Given the description of an element on the screen output the (x, y) to click on. 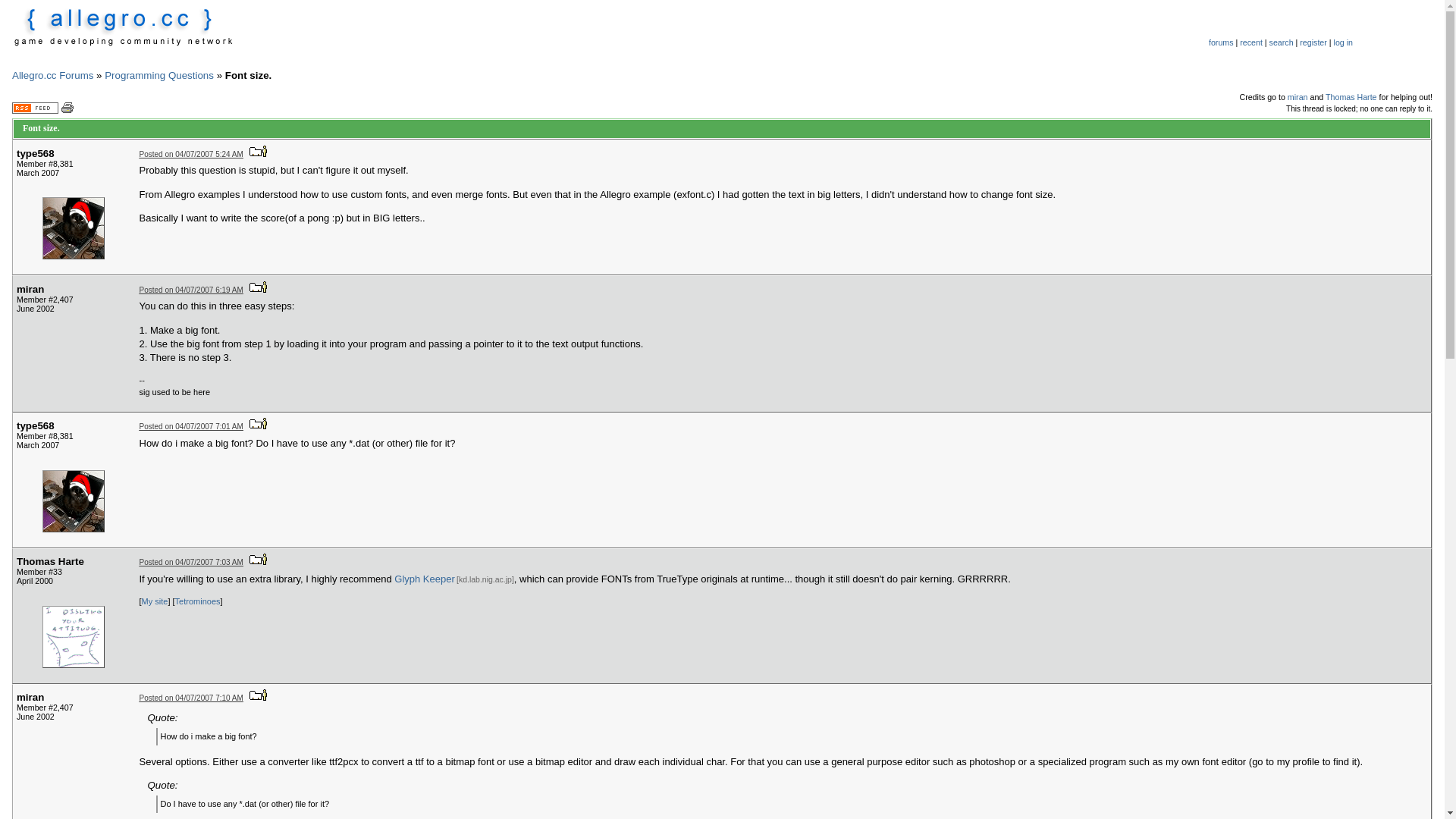
search Element type: text (1281, 42)
log in Element type: text (1342, 42)
Posted on 04/07/2007 5:24 AM Element type: text (191, 154)
recent Element type: text (1250, 42)
miran Element type: text (1297, 96)
forums Element type: text (1220, 42)
register Element type: text (1313, 42)
Posted on 04/07/2007 6:19 AM Element type: text (191, 289)
Tetrominoes Element type: text (197, 600)
Glyph Keeper Element type: text (424, 578)
Allegro.cc Forums Element type: text (52, 75)
Posted on 04/07/2007 7:01 AM Element type: text (191, 426)
Programming Questions Element type: text (158, 75)
Thomas Harte Element type: text (1351, 96)
Posted on 04/07/2007 7:03 AM Element type: text (191, 562)
My site Element type: text (154, 600)
Posted on 04/07/2007 7:10 AM Element type: text (191, 697)
